Given the description of an element on the screen output the (x, y) to click on. 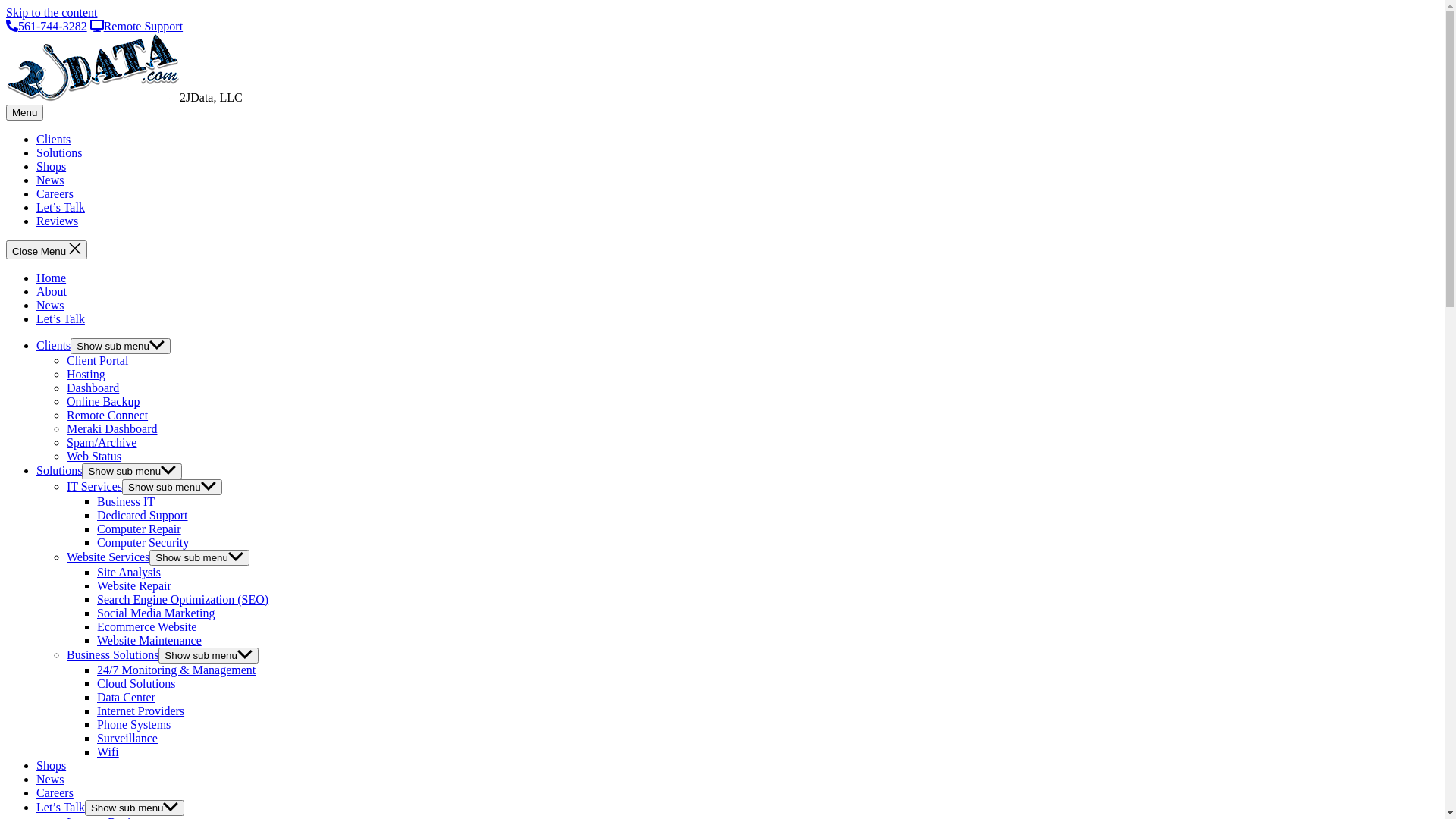
Menu Element type: text (24, 112)
Shops Element type: text (50, 166)
Home Element type: text (50, 277)
561-744-3282 Element type: text (46, 25)
Internet Providers Element type: text (140, 710)
Clients Element type: text (53, 138)
Data Center Element type: text (126, 696)
Careers Element type: text (54, 193)
Show sub menu Element type: text (134, 807)
Solutions Element type: text (58, 152)
News Element type: text (49, 179)
Clients Element type: text (53, 344)
Computer Repair Element type: text (139, 528)
Show sub menu Element type: text (208, 655)
Website Services Element type: text (107, 556)
Show sub menu Element type: text (120, 346)
Client Portal Element type: text (97, 360)
Online Backup Element type: text (102, 401)
Close Menu Element type: text (46, 249)
Surveillance Element type: text (127, 737)
Solutions Element type: text (58, 470)
Show sub menu Element type: text (172, 487)
Wifi Element type: text (108, 751)
Reviews Element type: text (57, 220)
Shops Element type: text (50, 765)
Careers Element type: text (54, 792)
Meraki Dashboard Element type: text (111, 428)
IT Services Element type: text (94, 486)
Dashboard Element type: text (92, 387)
Search Engine Optimization (SEO) Element type: text (182, 599)
Business IT Element type: text (125, 501)
News Element type: text (49, 304)
Social Media Marketing Element type: text (156, 612)
Skip to the content Element type: text (51, 12)
News Element type: text (49, 778)
Show sub menu Element type: text (131, 471)
Remote Connect Element type: text (106, 414)
24/7 Monitoring & Management Element type: text (176, 669)
Cloud Solutions Element type: text (136, 683)
Web Status Element type: text (93, 455)
Computer Security Element type: text (142, 542)
Show sub menu Element type: text (199, 557)
Website Repair Element type: text (134, 585)
Spam/Archive Element type: text (101, 442)
Ecommerce Website Element type: text (146, 626)
Business Solutions Element type: text (112, 654)
Website Maintenance Element type: text (149, 639)
About Element type: text (51, 291)
Phone Systems Element type: text (133, 724)
Site Analysis Element type: text (128, 571)
Hosting Element type: text (85, 373)
Remote Support Element type: text (136, 25)
Dedicated Support Element type: text (142, 514)
